Given the description of an element on the screen output the (x, y) to click on. 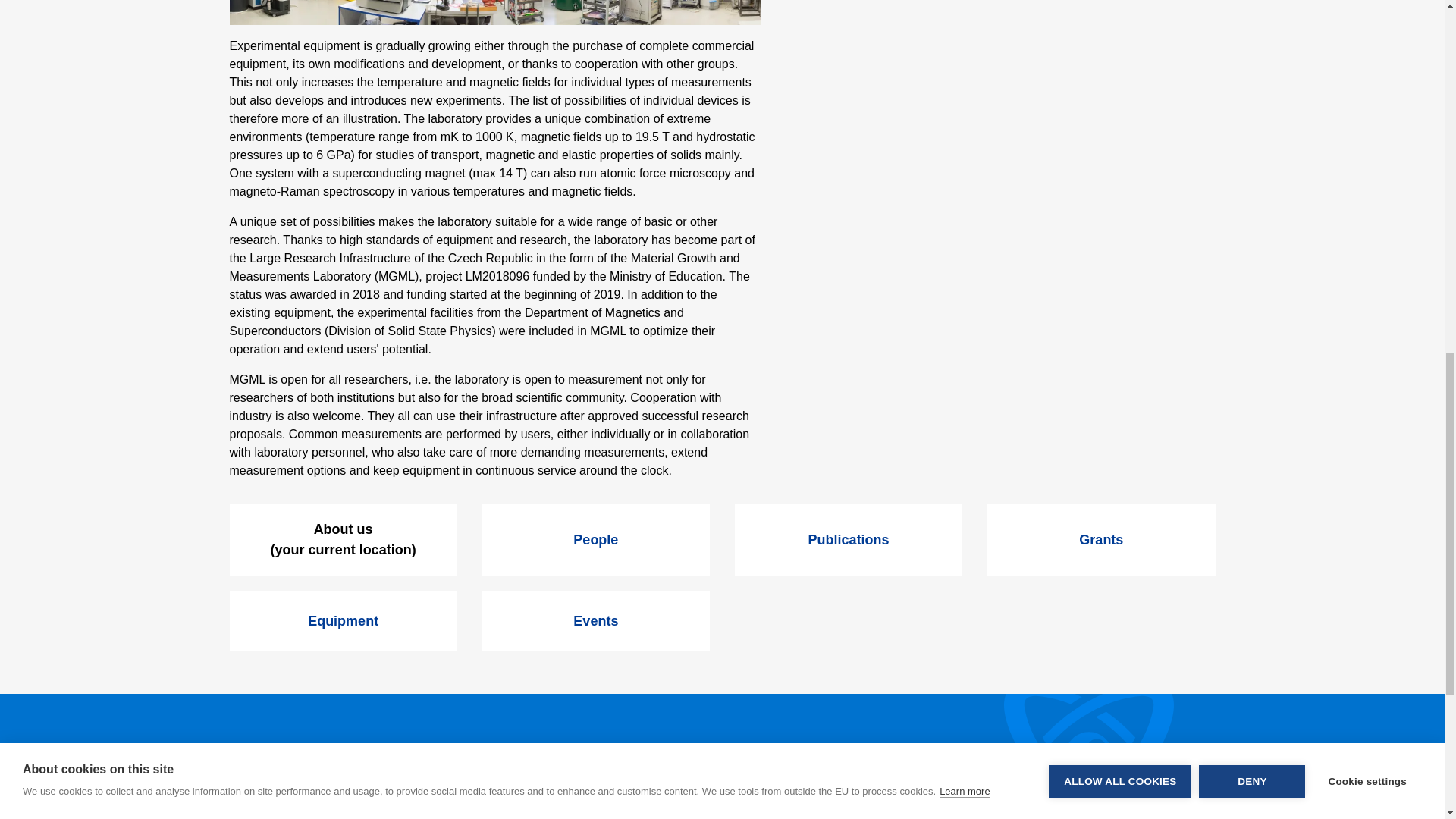
Subscribe (1158, 760)
